Given the description of an element on the screen output the (x, y) to click on. 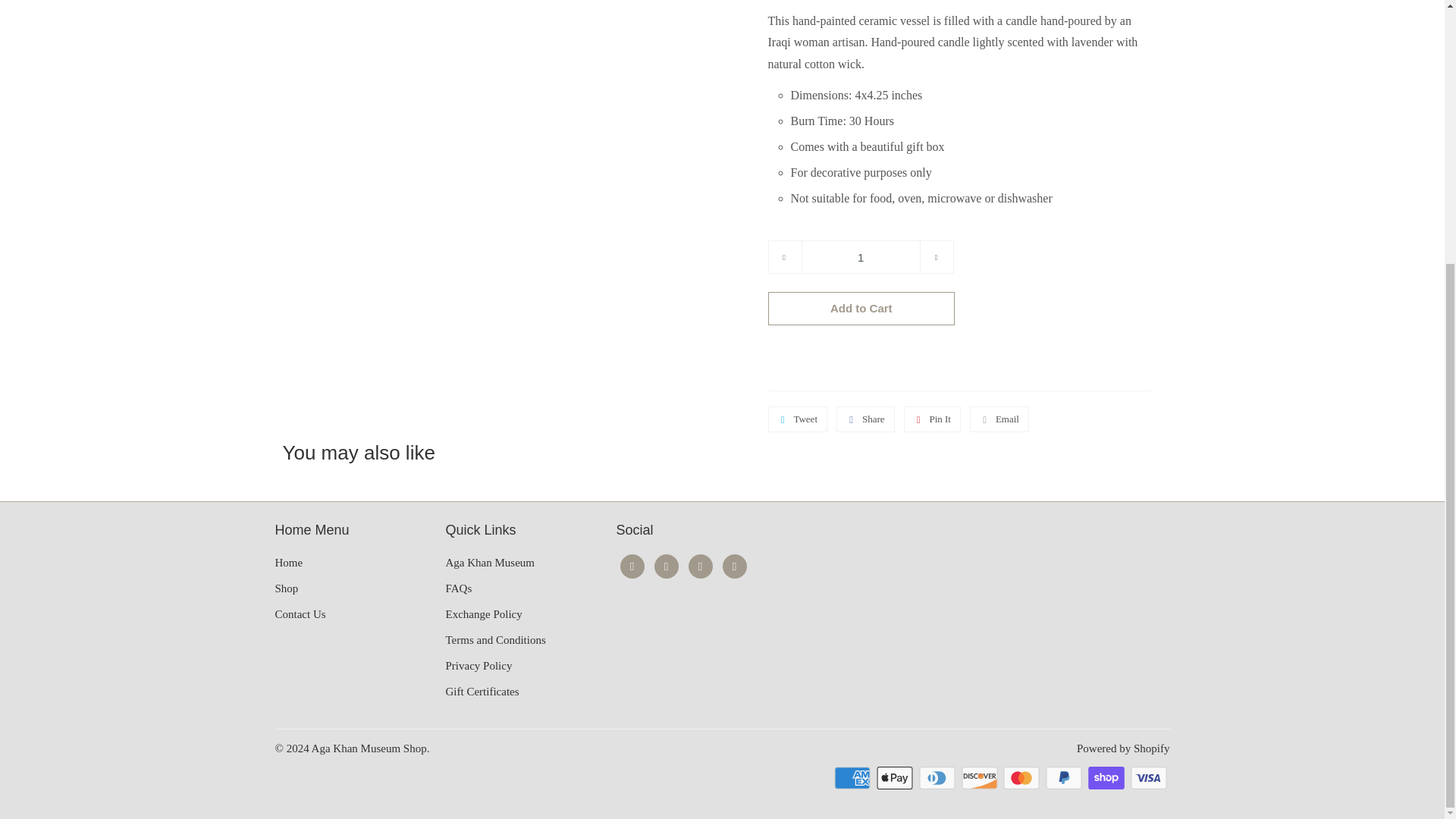
Diners Club (938, 777)
Add to Cart (861, 308)
1 (860, 256)
Aga Khan Museum Shop on Instagram (700, 566)
Mastercard (1022, 777)
Share this on Facebook (865, 419)
Share this on Pinterest (932, 419)
Tweet (797, 419)
American Express (853, 777)
Share this on Twitter (797, 419)
Shop Pay (1106, 777)
PayPal (1064, 777)
Discover (980, 777)
Aga Khan Museum Shop on Twitter (632, 566)
Email this to a friend (999, 419)
